Given the description of an element on the screen output the (x, y) to click on. 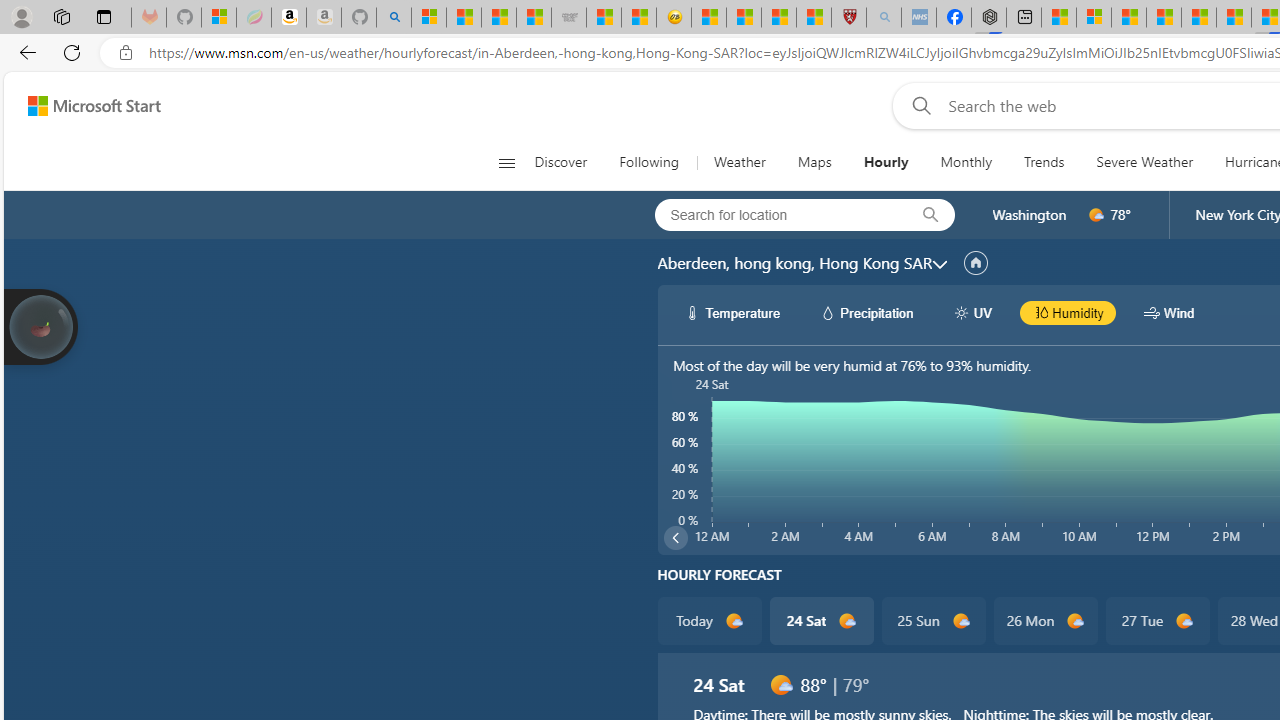
locationBar/search (930, 215)
Trends (1044, 162)
d1000 (780, 684)
27 Tue d1000 (1156, 620)
Severe Weather (1144, 162)
25 Sun d1000 (932, 620)
hourlyChart/precipitationWhite (828, 312)
common/carouselChevron (675, 538)
Monthly (966, 162)
